Given the description of an element on the screen output the (x, y) to click on. 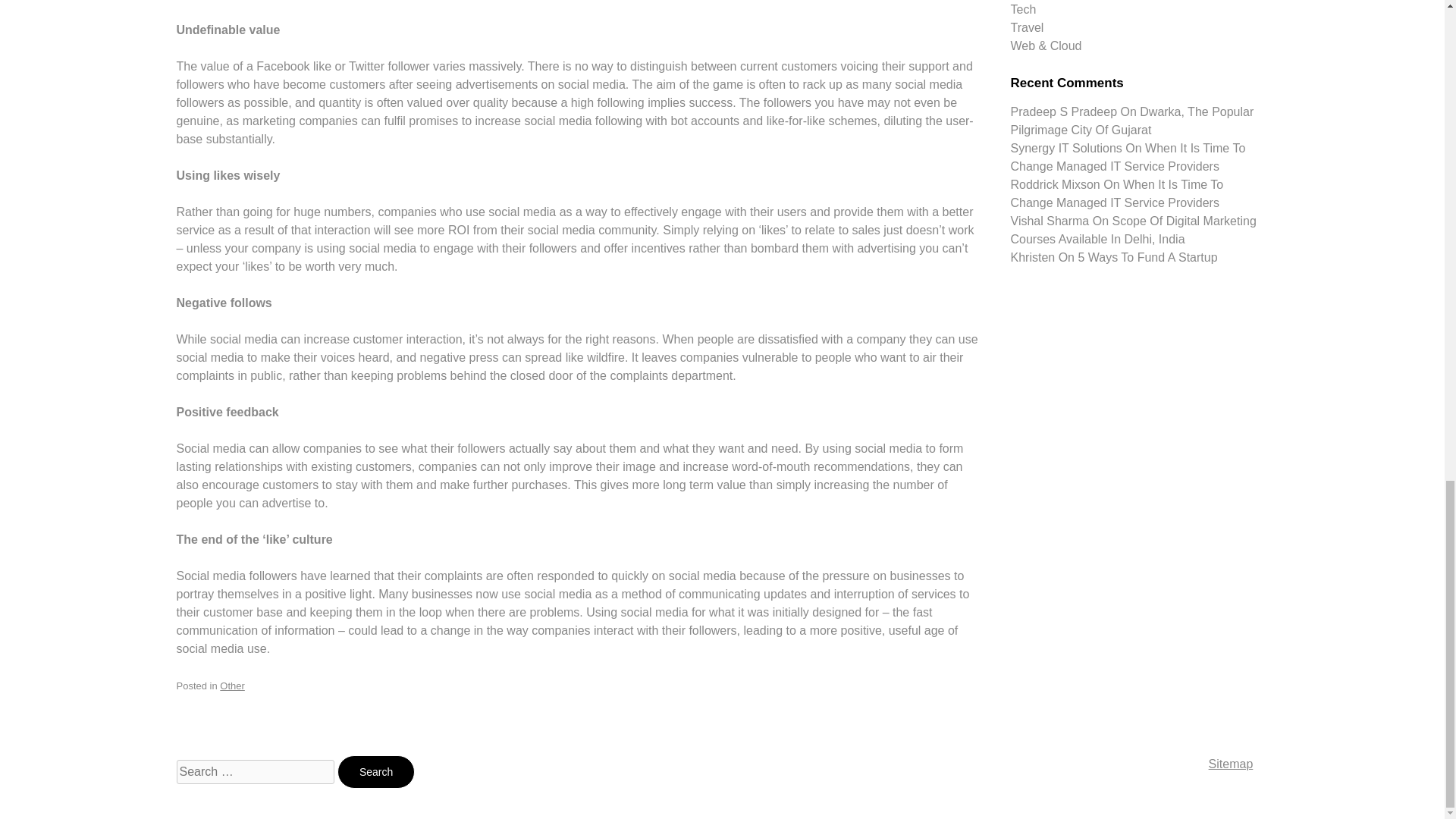
Other (231, 685)
Search (375, 771)
Search (375, 771)
